Given the description of an element on the screen output the (x, y) to click on. 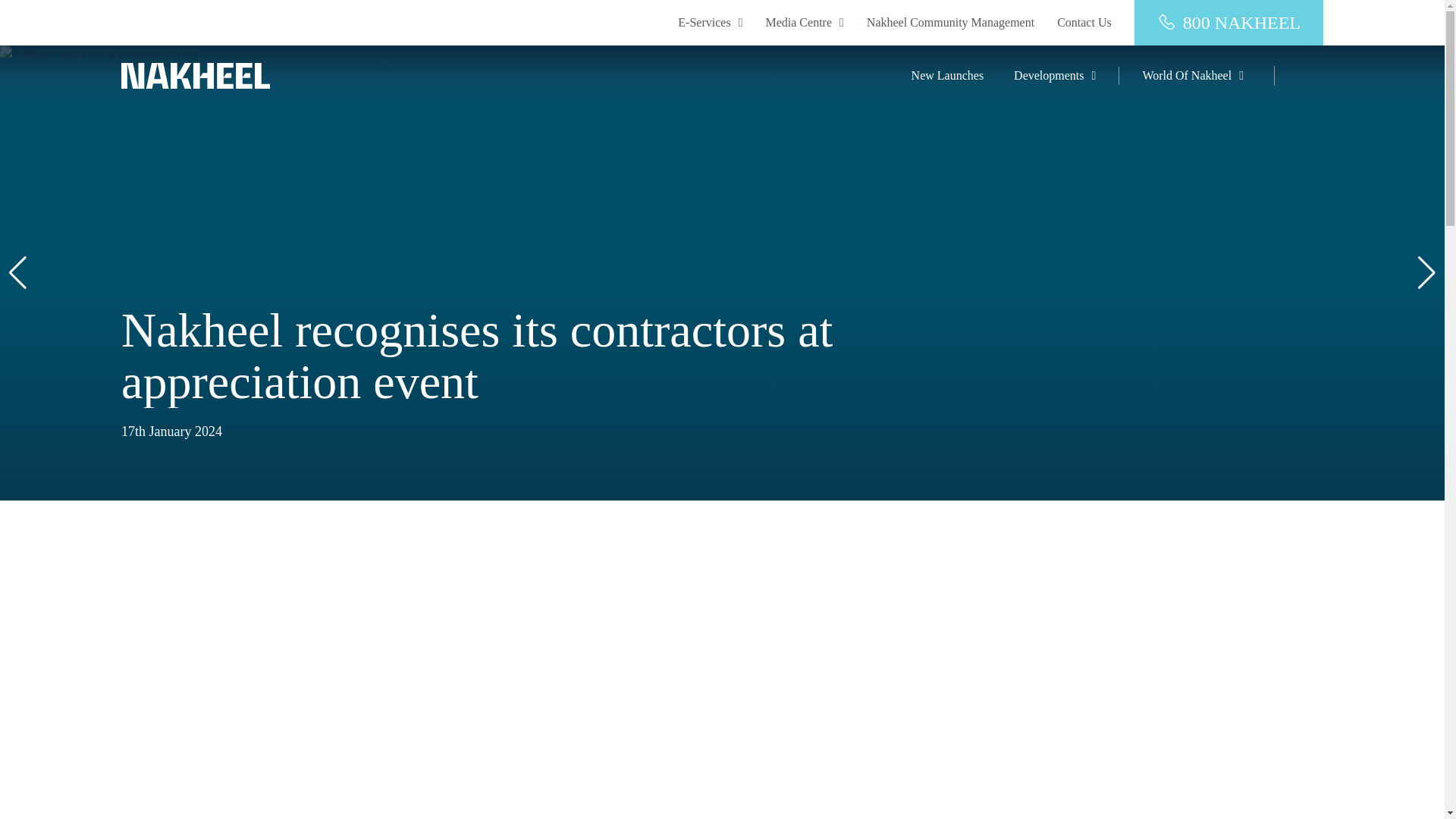
Contact Us (1084, 22)
Nakheel Community Management (949, 22)
Developments (1048, 75)
Media Centre (804, 22)
800 NAKHEEL (1228, 22)
New Launches (947, 75)
E-Services (710, 22)
